Given the description of an element on the screen output the (x, y) to click on. 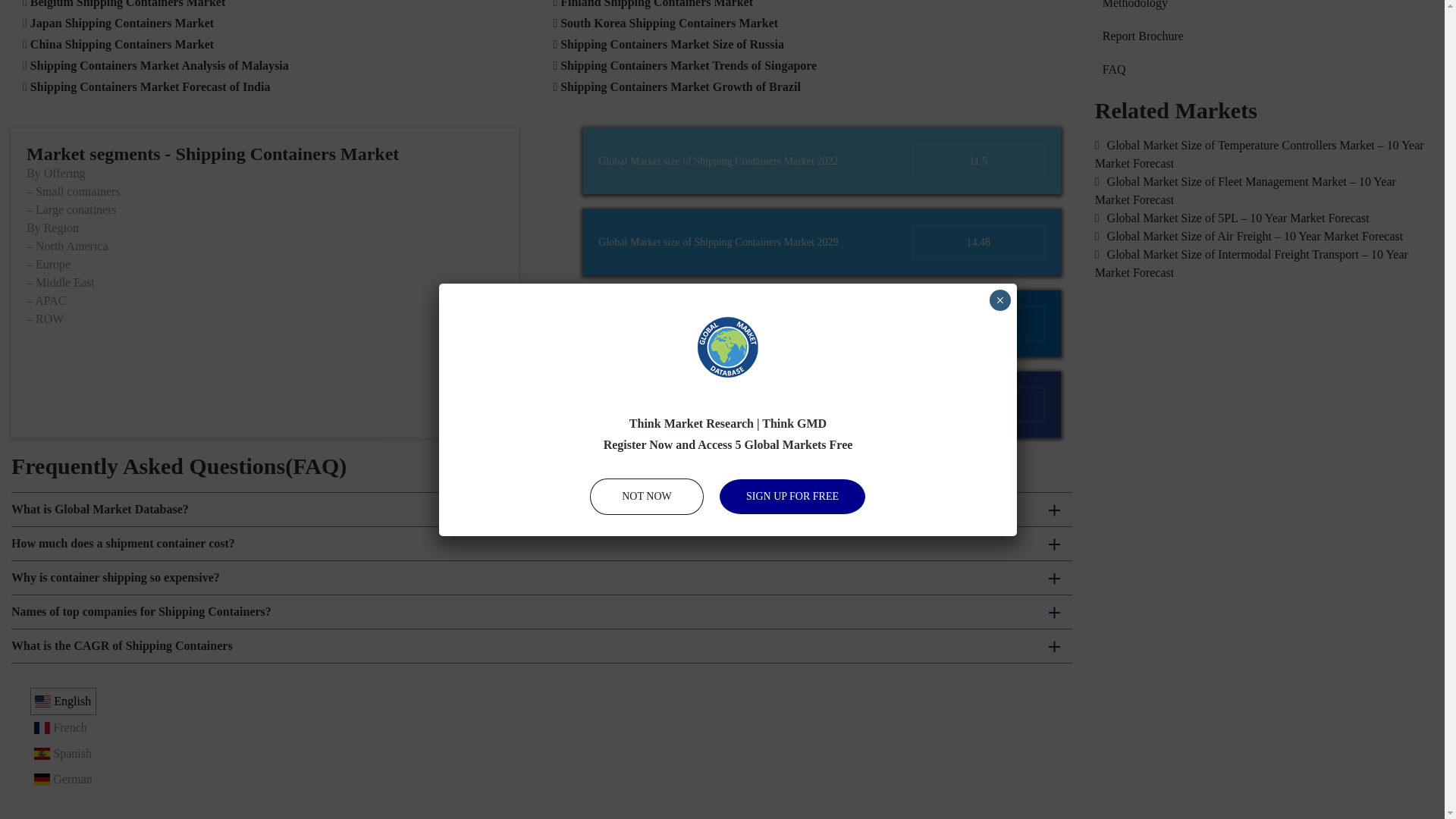
Methodology (1263, 6)
